Given the description of an element on the screen output the (x, y) to click on. 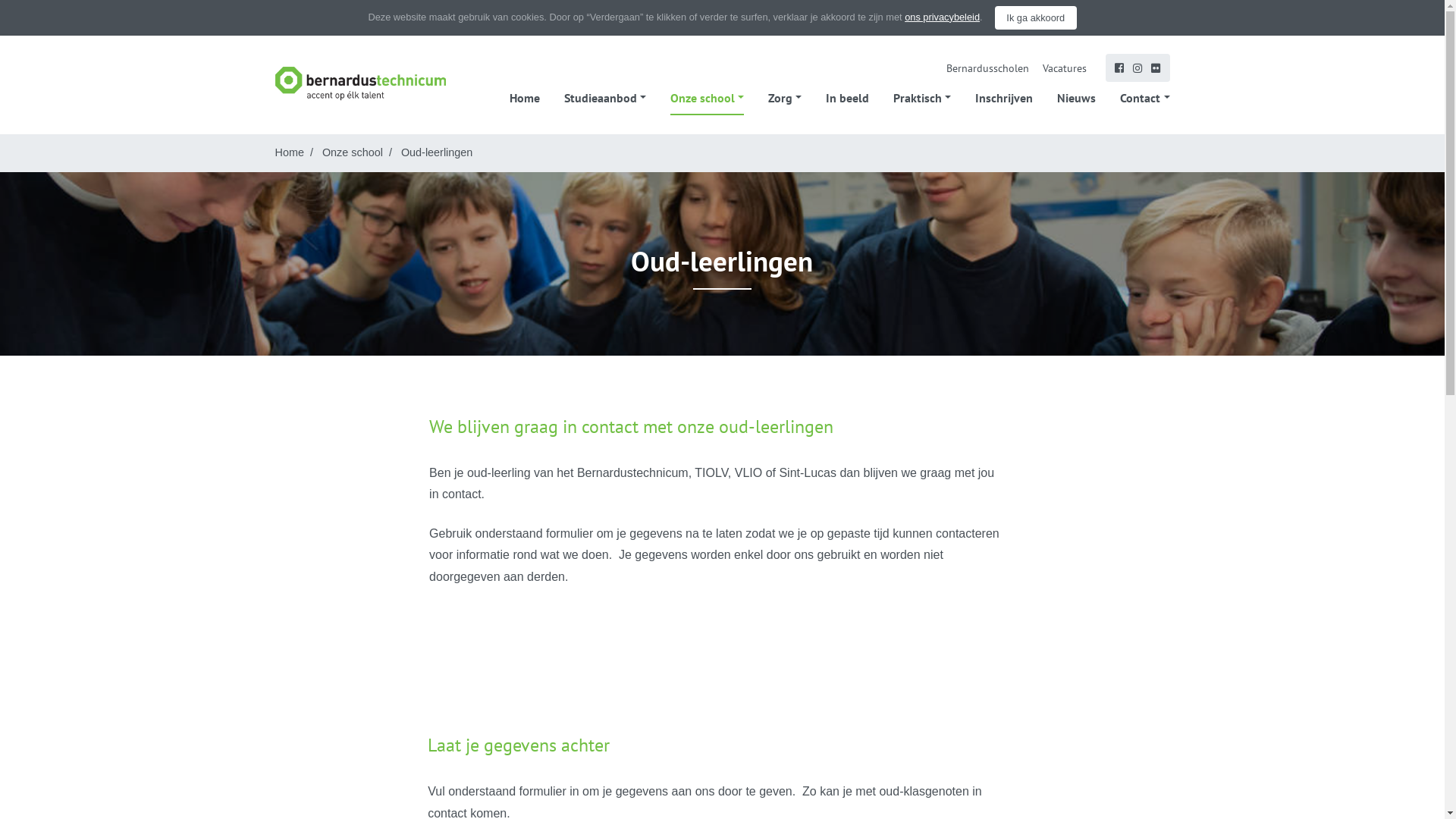
Zorg Element type: text (784, 97)
Home Element type: text (524, 97)
Bernardusscholen Element type: text (987, 67)
Bernardustechnicum Element type: hover (359, 82)
Nieuws Element type: text (1076, 97)
ons privacybeleid Element type: text (941, 16)
facebook Element type: hover (1118, 67)
Oud-leerlingen Element type: text (436, 152)
Onze school Element type: text (706, 97)
In beeld Element type: text (847, 97)
Vacatures Element type: text (1064, 67)
Ik ga akkoord Element type: text (1035, 17)
Inschrijven Element type: text (1003, 97)
Studieaanbod Element type: text (605, 97)
Onze school Element type: text (352, 152)
Praktisch Element type: text (921, 97)
Flickr Element type: hover (1155, 67)
Contact Element type: text (1144, 97)
instagram Element type: hover (1137, 67)
Home Element type: text (288, 152)
